Given the description of an element on the screen output the (x, y) to click on. 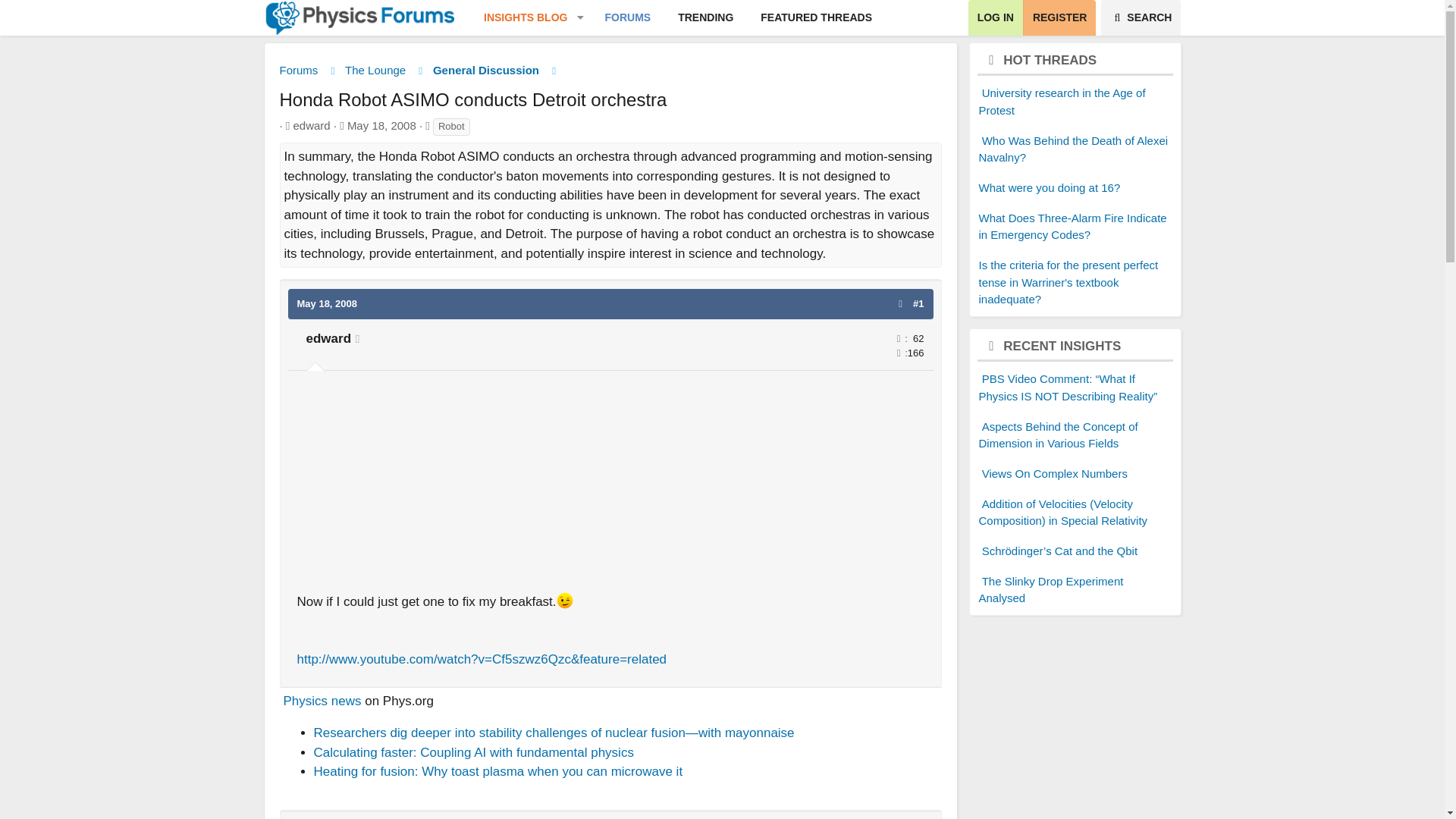
REGISTER (1059, 18)
LOG IN (677, 18)
Advertisement (995, 18)
INSIGHTS BLOG (610, 485)
Reaction score (519, 18)
Messages (898, 352)
May 18, 2008 at 10:44 PM (677, 18)
The Lounge (898, 338)
FEATURED THREADS (327, 303)
SEARCH (375, 70)
Forums (815, 18)
Search (1140, 18)
Wink    :wink: (298, 70)
